Given the description of an element on the screen output the (x, y) to click on. 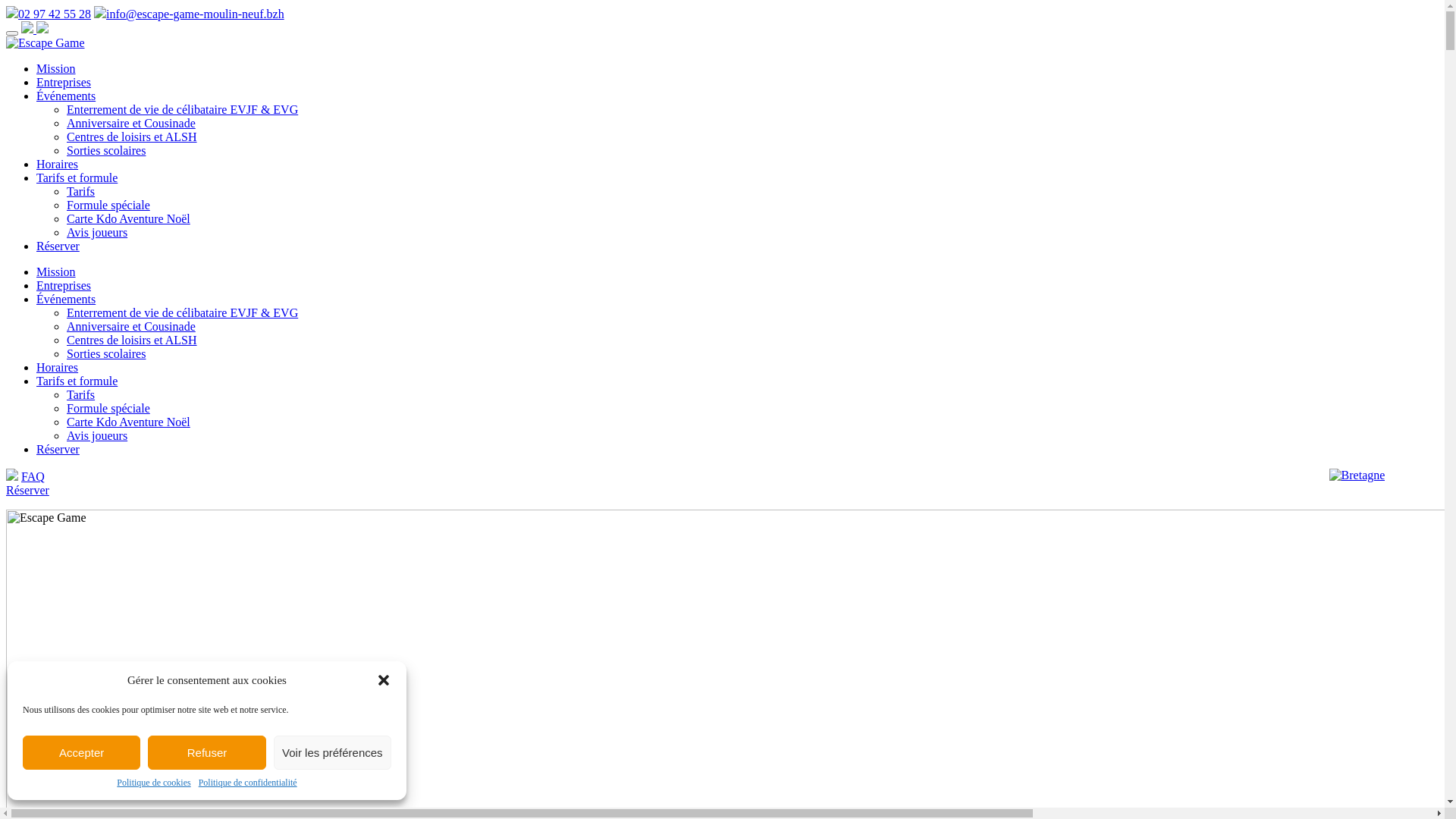
Centres de loisirs et ALSH Element type: text (131, 136)
Tarifs et formule Element type: text (76, 177)
Horaires Element type: text (57, 163)
info@escape-game-moulin-neuf.bzh Element type: text (189, 13)
Entreprises Element type: text (63, 81)
Mission Element type: text (55, 68)
Refuser Element type: text (206, 752)
Anniversaire et Cousinade Element type: text (130, 326)
Mission Element type: text (55, 271)
Centres de loisirs et ALSH Element type: text (131, 339)
Tarifs et formule Element type: text (76, 380)
Avis joueurs Element type: text (96, 435)
Tarifs Element type: text (80, 191)
Accepter Element type: text (81, 752)
Politique de cookies Element type: text (153, 782)
Anniversaire et Cousinade Element type: text (130, 122)
02 97 42 55 28 Element type: text (48, 13)
Horaires Element type: text (57, 366)
Sorties scolaires Element type: text (105, 353)
FAQ Element type: text (32, 476)
Tarifs Element type: text (80, 394)
Sorties scolaires Element type: text (105, 150)
Avis joueurs Element type: text (96, 231)
Entreprises Element type: text (63, 285)
